Given the description of an element on the screen output the (x, y) to click on. 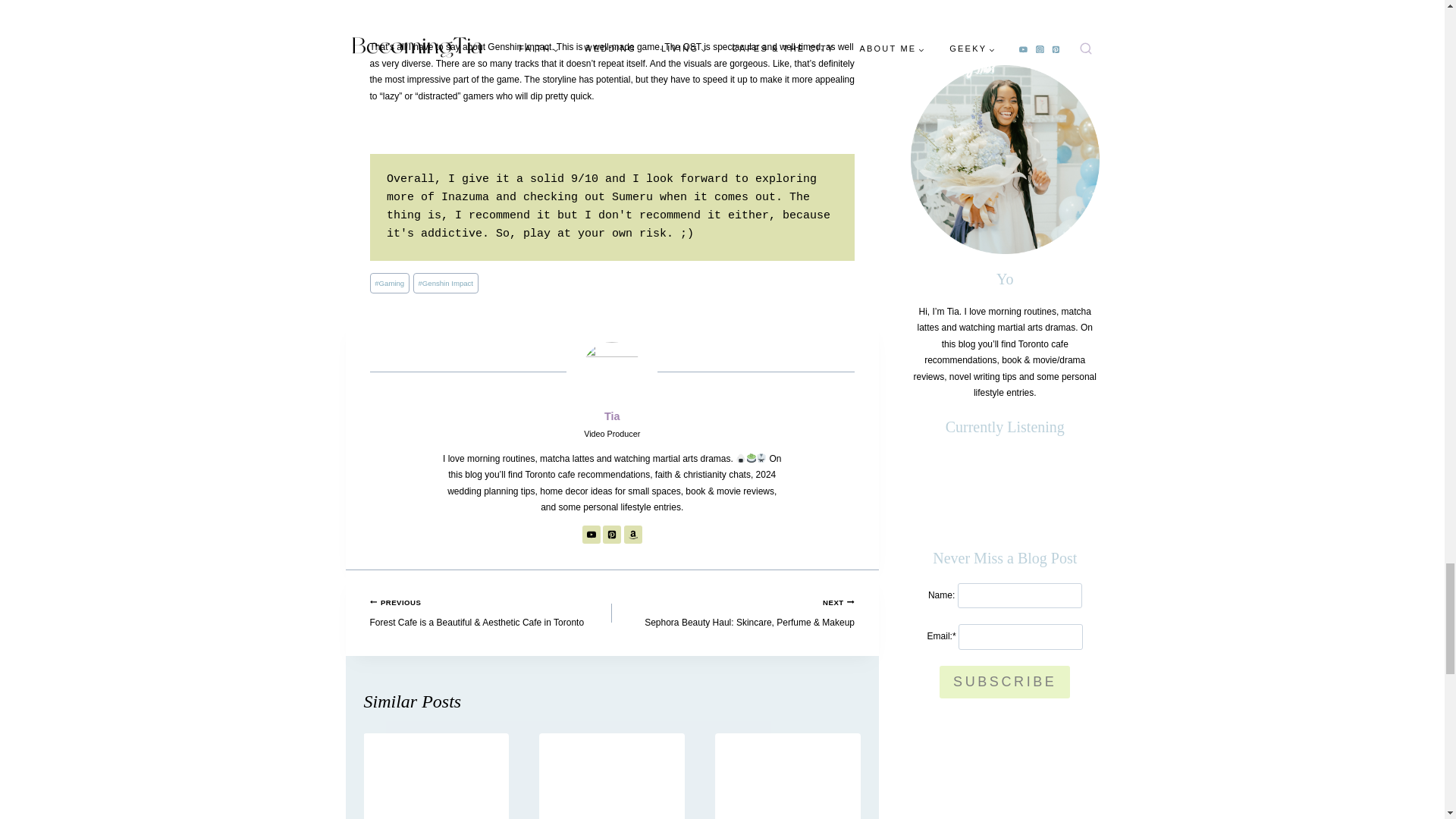
Gaming (389, 282)
Follow Tia on Pinterest (611, 534)
Tia (612, 416)
Posts by Tia (612, 416)
Genshin Impact (446, 282)
Follow Tia on Amazon (633, 534)
Follow Tia on Youtube (590, 534)
